Given the description of an element on the screen output the (x, y) to click on. 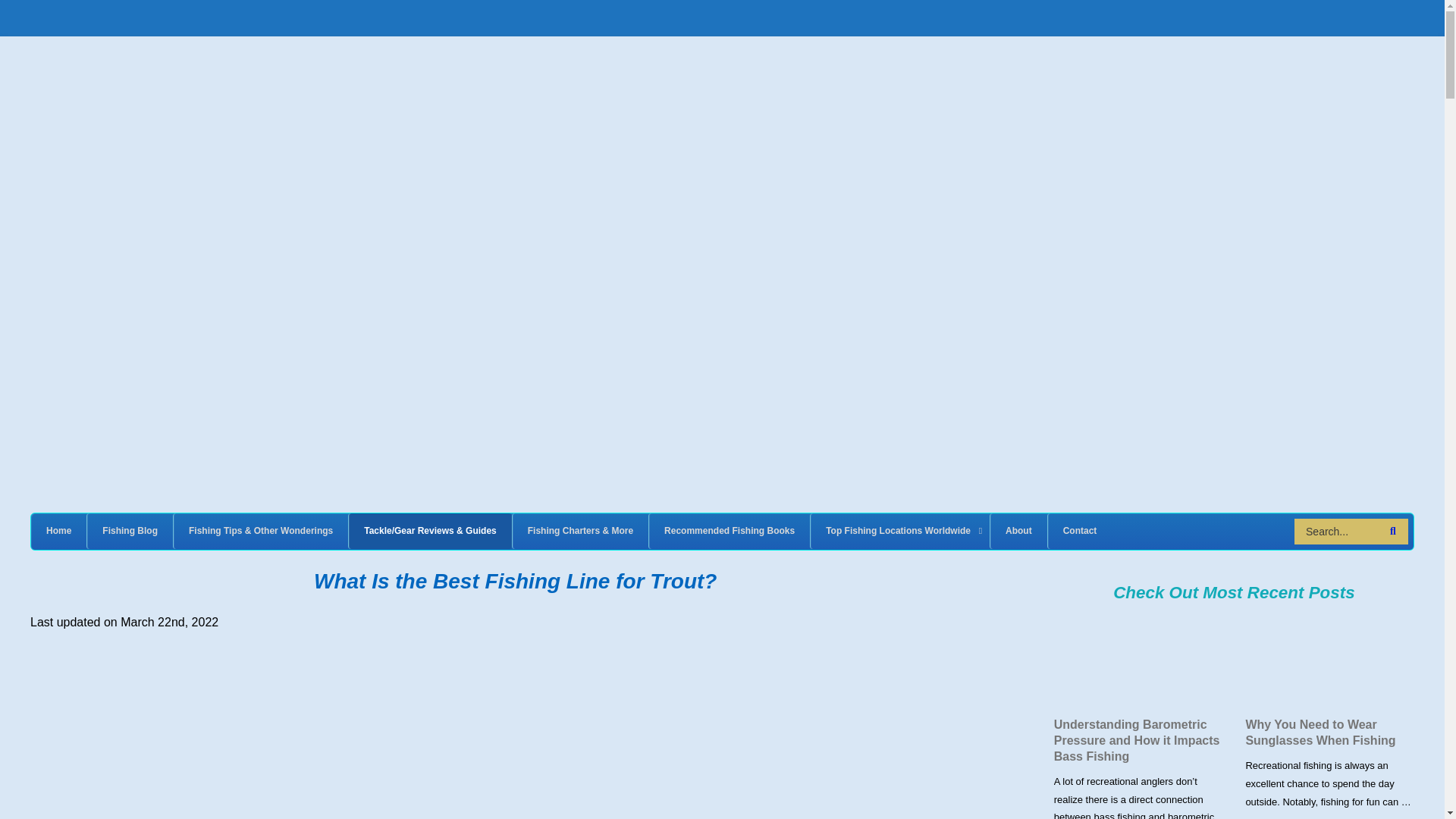
Recommended Fishing Books (728, 530)
Reel Adventure Fishing (182, 73)
Fishing Blog (129, 530)
Home (57, 530)
Reel Adventure Fishing (182, 73)
